Given the description of an element on the screen output the (x, y) to click on. 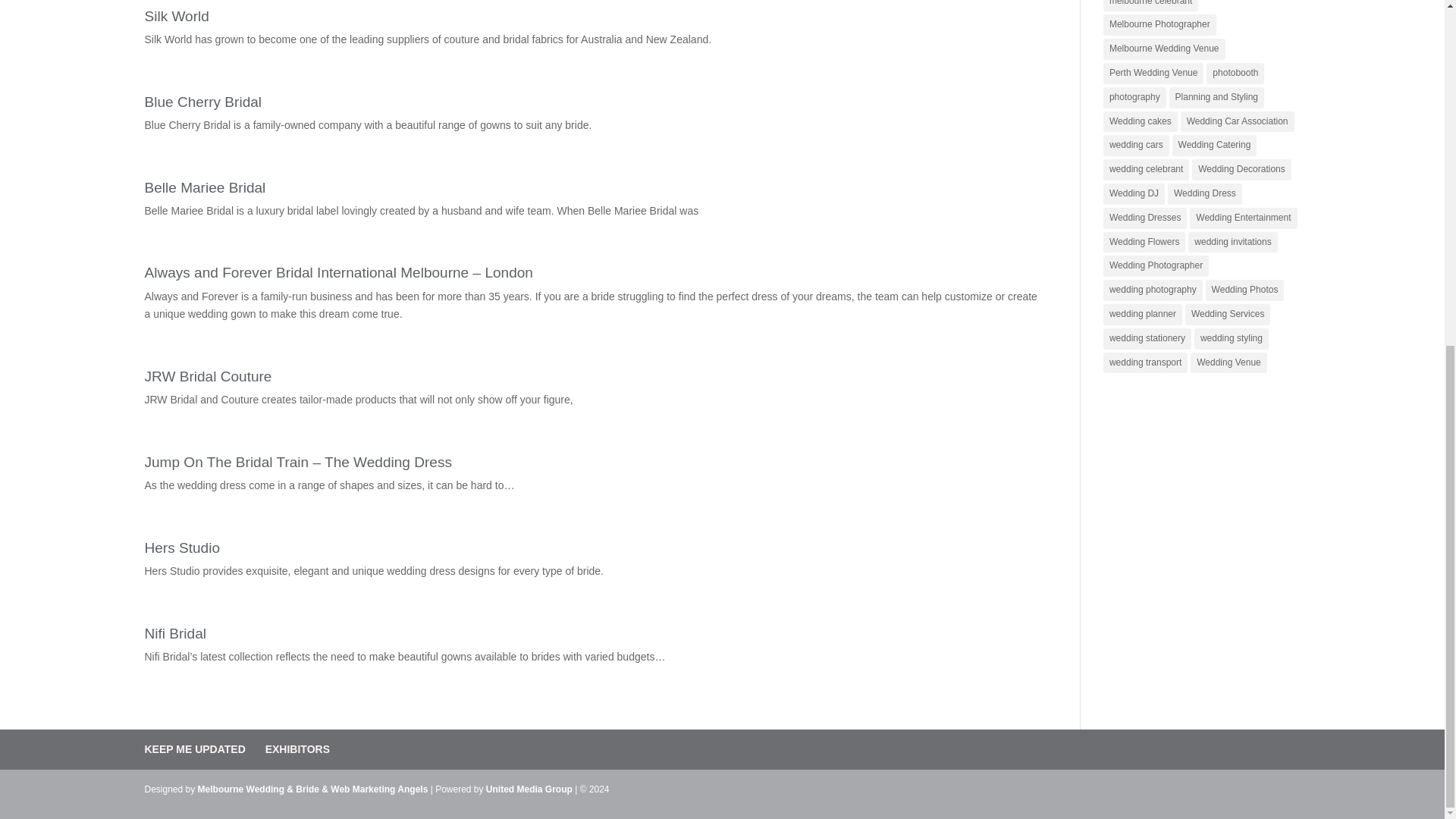
Nifi Bridal (175, 633)
Melbourne Digital Marketing Services (379, 788)
Belle Mariee Bridal (204, 187)
JRW Bridal Couture (207, 376)
Hers Studio (181, 547)
Blue Cherry Bridal (203, 101)
Melbourne Wedding and Bride Services (529, 788)
Silk World (176, 16)
